Given the description of an element on the screen output the (x, y) to click on. 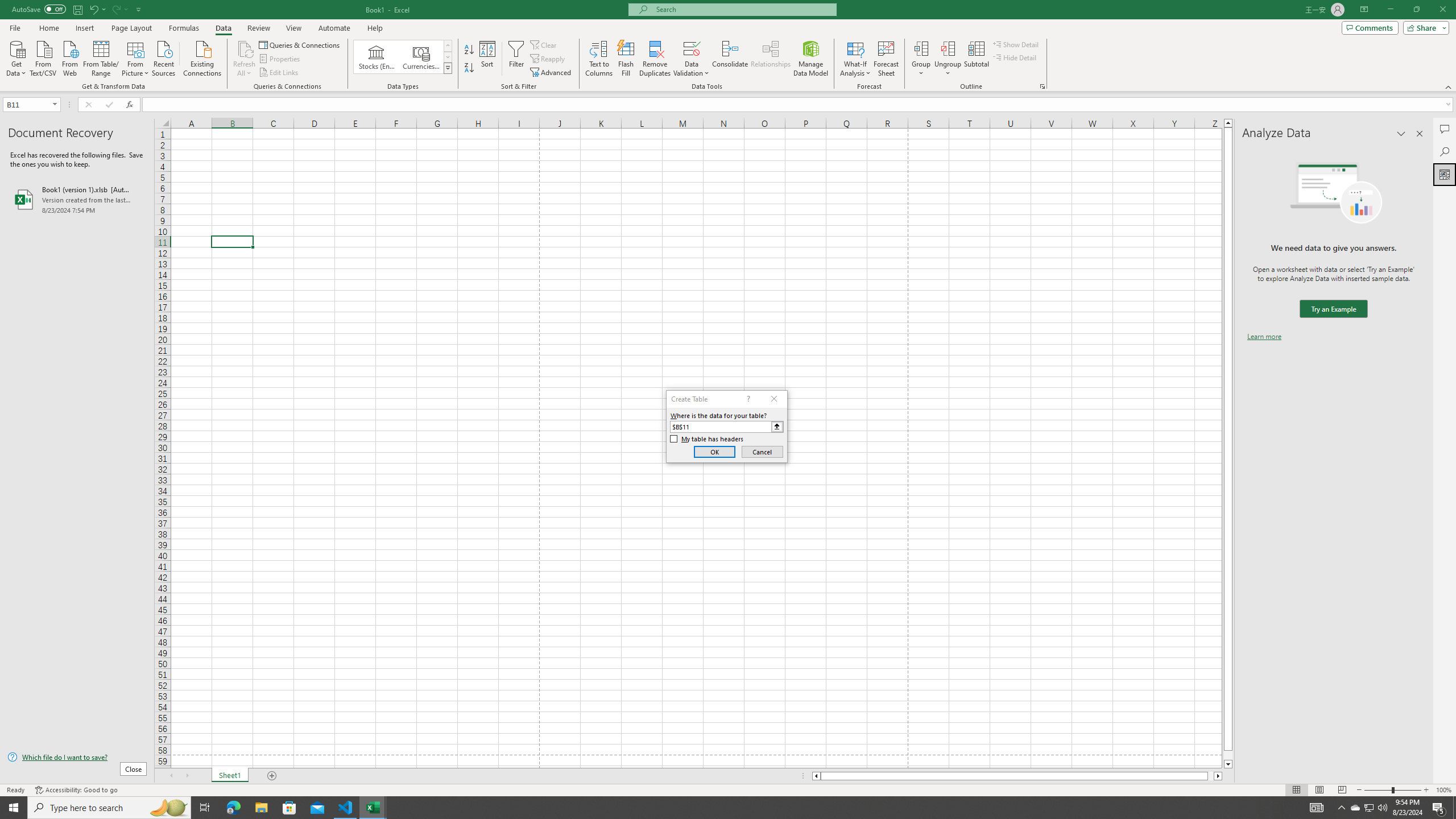
Data (223, 28)
Group... (921, 58)
Sort A to Z (469, 49)
Add Sheet (272, 775)
Row up (448, 45)
Which file do I want to save? (77, 757)
Filter (515, 58)
Minimize (1390, 9)
Reapply (548, 58)
Automate (334, 28)
Collapse the Ribbon (1448, 86)
Refresh All (244, 58)
